Given the description of an element on the screen output the (x, y) to click on. 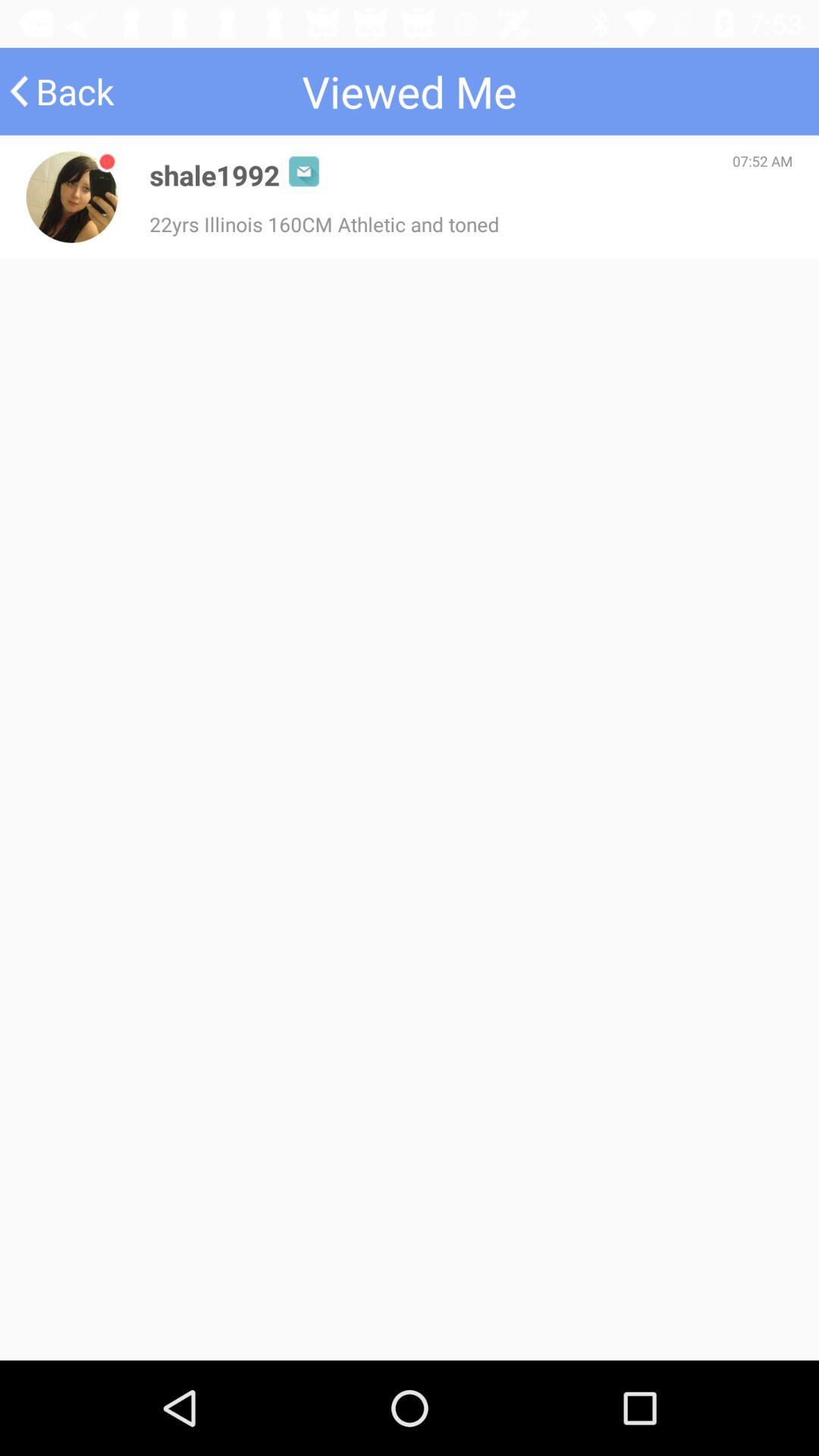
tap the 22yrs illinois 160cm icon (324, 224)
